Given the description of an element on the screen output the (x, y) to click on. 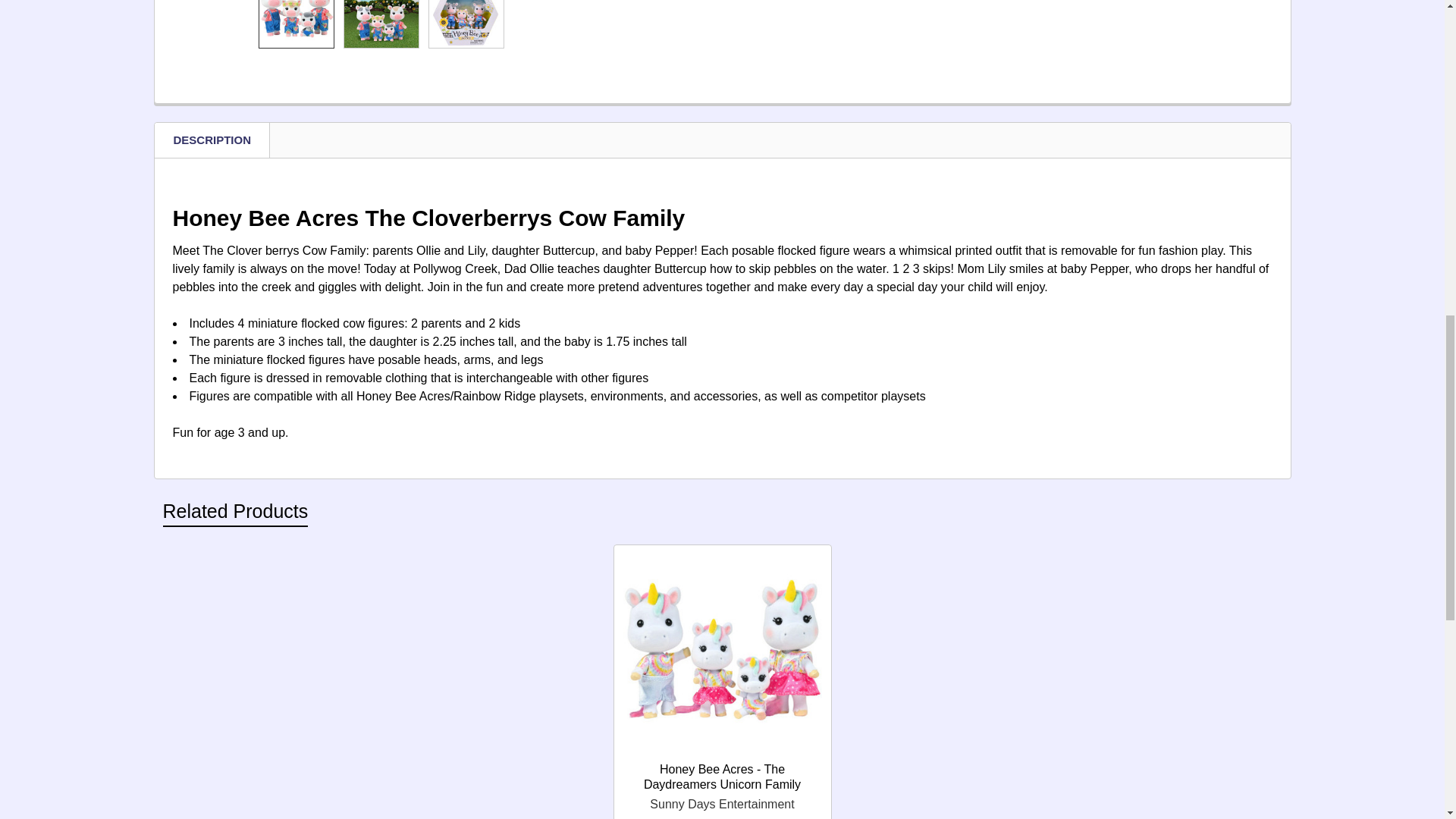
Honey Bee Acres - The Cloverberrys Cow Family (296, 23)
Honey Bee Acres - The Cloverberrys Cow Family (466, 23)
Honey Bee Acres - The Daydreamers Unicorn Family (722, 653)
Honey Bee Acres - The Cloverberrys Cow Family (381, 23)
